Given the description of an element on the screen output the (x, y) to click on. 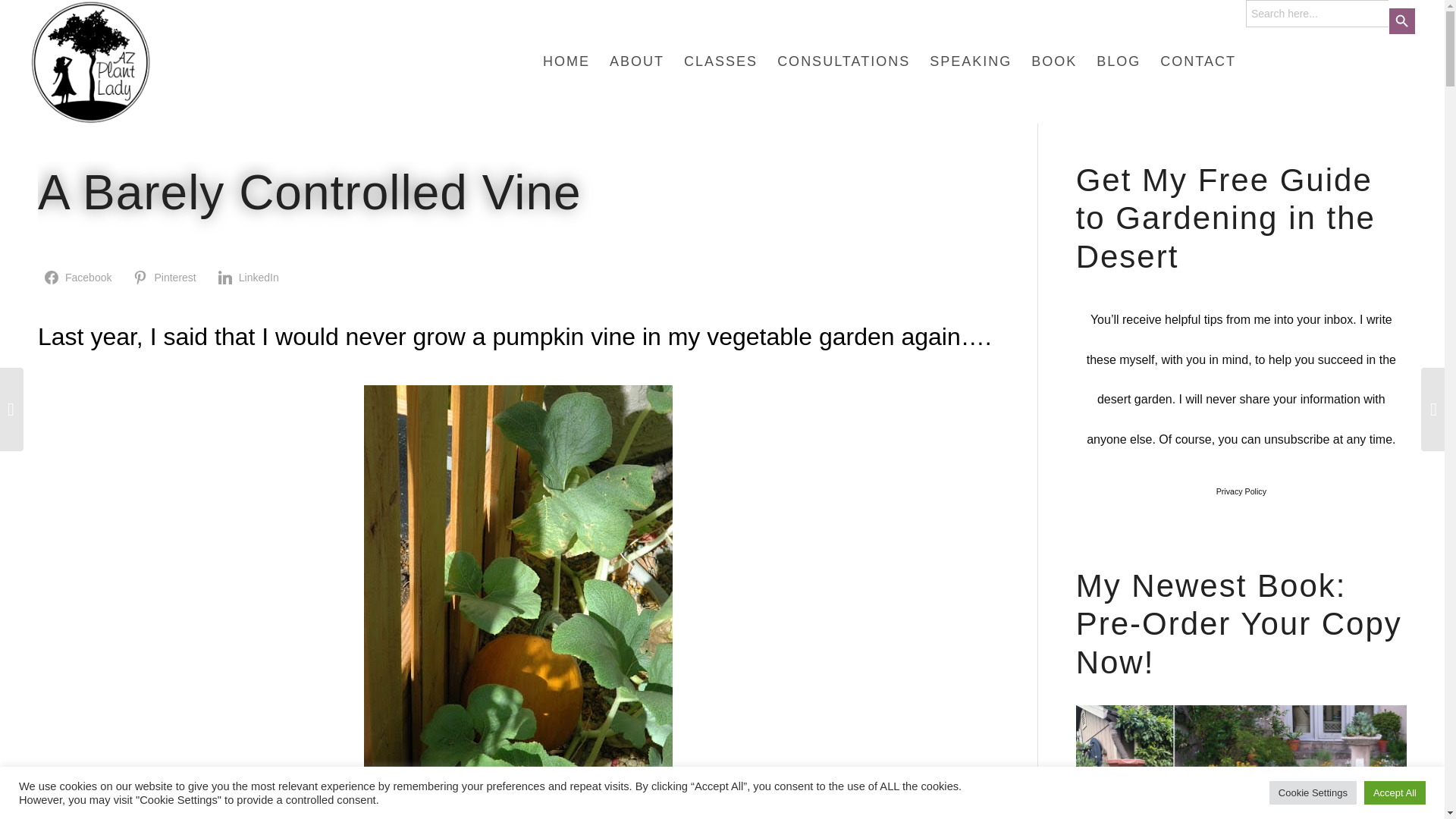
Search Button (1402, 21)
Facebook (79, 276)
Share on Facebook (79, 276)
favicon (90, 61)
LinkedIn (250, 276)
CONSULTATIONS (843, 61)
Pinterest (166, 276)
Share on Pinterest (166, 276)
Share on LinkedIn (250, 276)
